Given the description of an element on the screen output the (x, y) to click on. 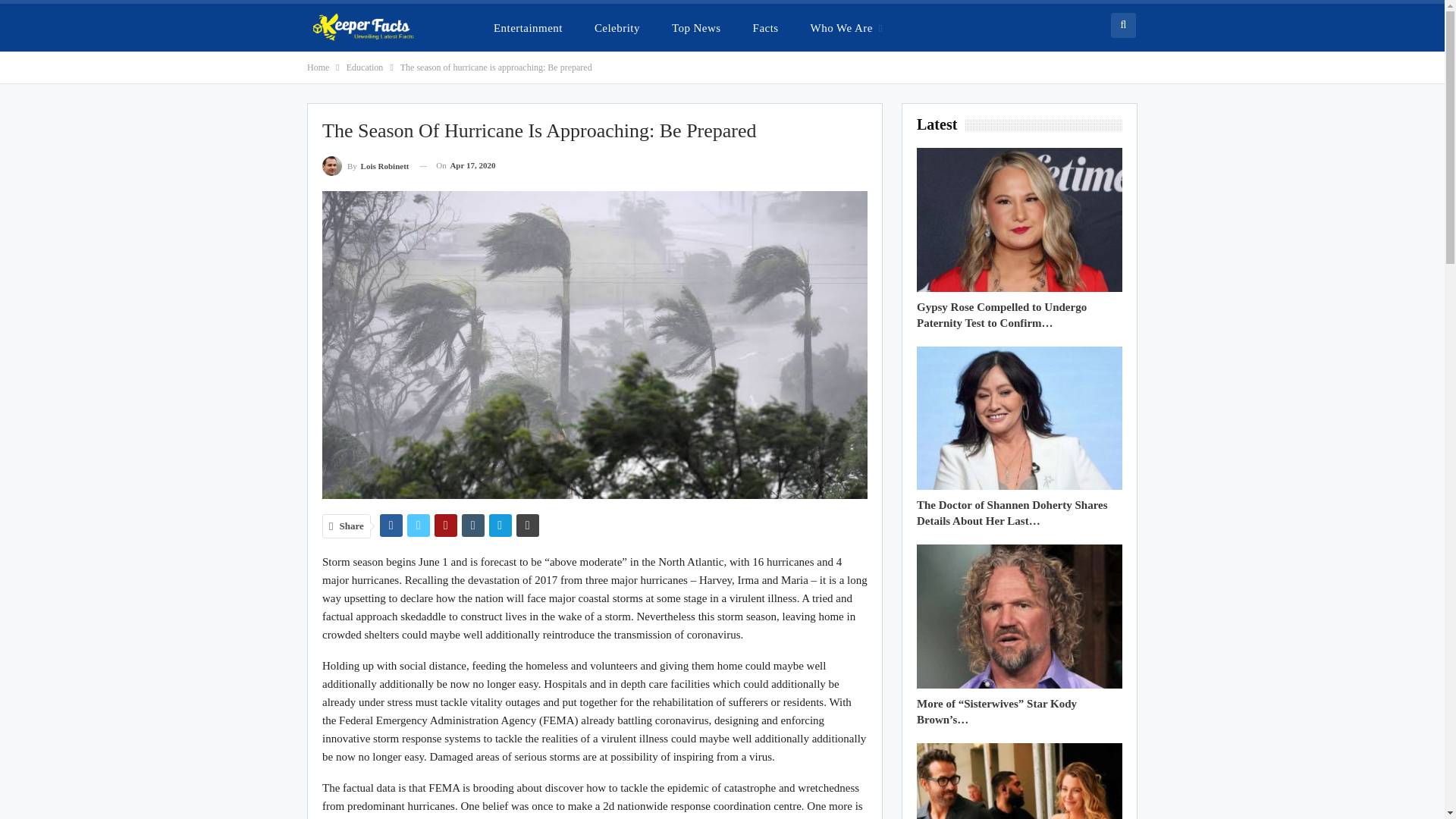
Top News (696, 27)
Facts (765, 27)
Who We Are (846, 27)
By Lois Robinett (365, 165)
Education (365, 67)
Home (318, 67)
Browse Author Articles (365, 165)
Celebrity (617, 27)
Entertainment (528, 27)
